Given the description of an element on the screen output the (x, y) to click on. 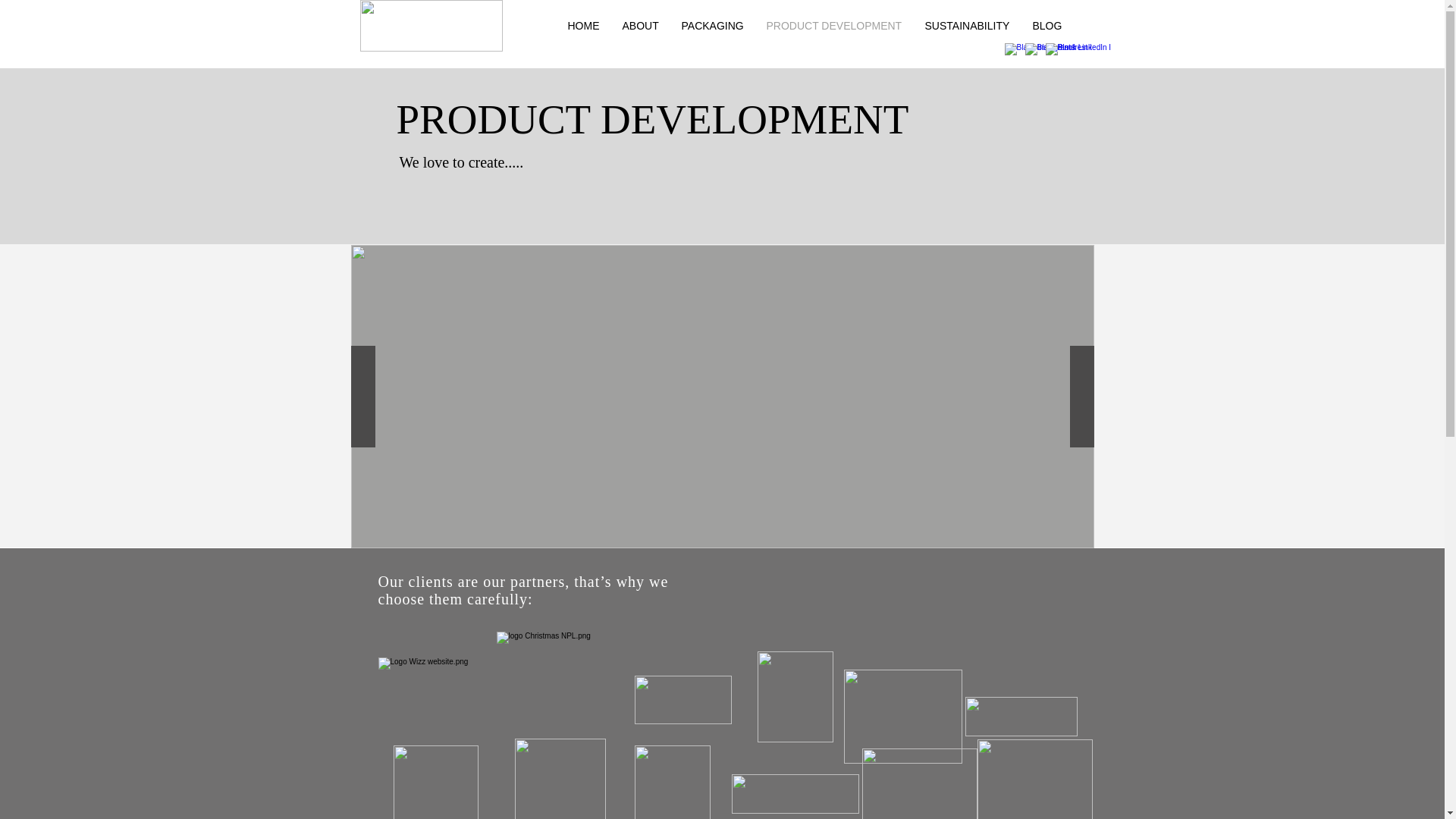
SUSTAINABILITY (966, 25)
ABOUT (640, 25)
HOME (583, 25)
PRODUCT DEVELOPMENT (834, 25)
PACKAGING (712, 25)
BLOG (1046, 25)
